Given the description of an element on the screen output the (x, y) to click on. 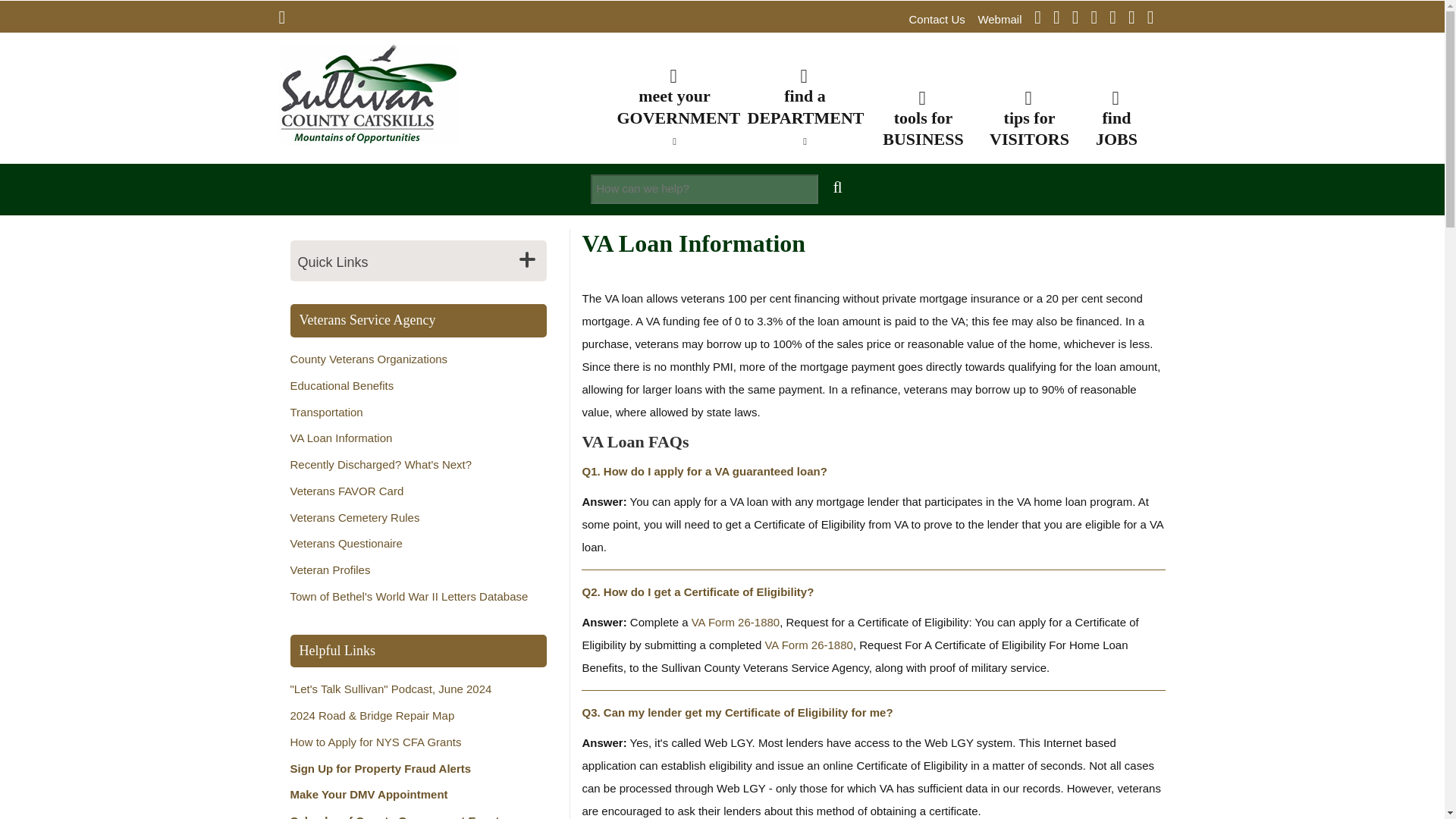
Webmail (999, 19)
Home (368, 92)
County YouTube Link (1080, 19)
Sullivan County Video (1156, 19)
meet your GOVERNMENT (674, 104)
County Facebook Link (1042, 19)
Make Your DMV Appointment (367, 793)
Form 26-1880 - Request for a Certificate of Eligibility (734, 621)
County Instagram Link (1061, 19)
